Given the description of an element on the screen output the (x, y) to click on. 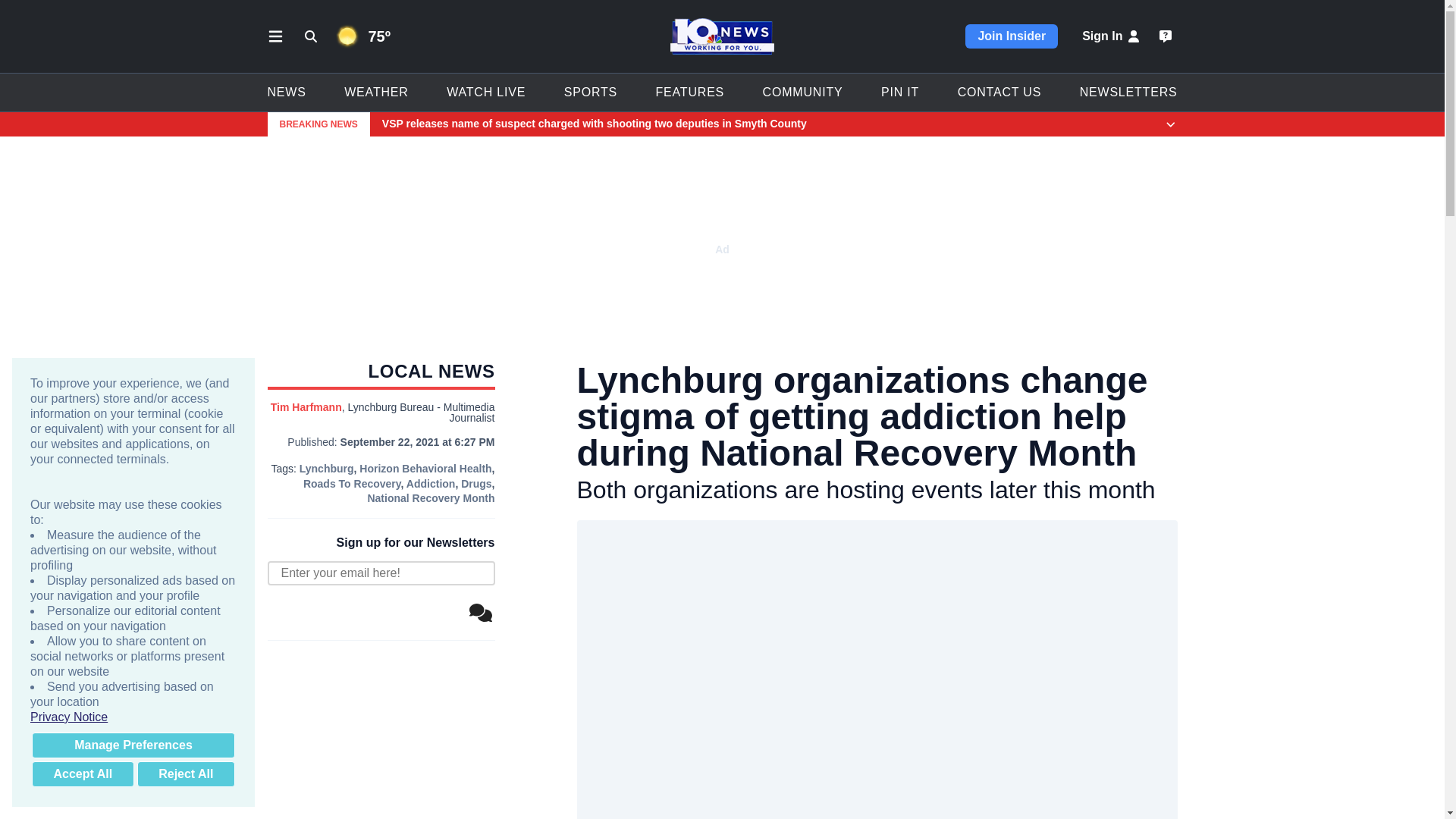
Sign In (1111, 36)
Accept All (82, 774)
Privacy Notice (132, 717)
Manage Preferences (133, 745)
Join Insider (1011, 36)
Reject All (185, 774)
